Given the description of an element on the screen output the (x, y) to click on. 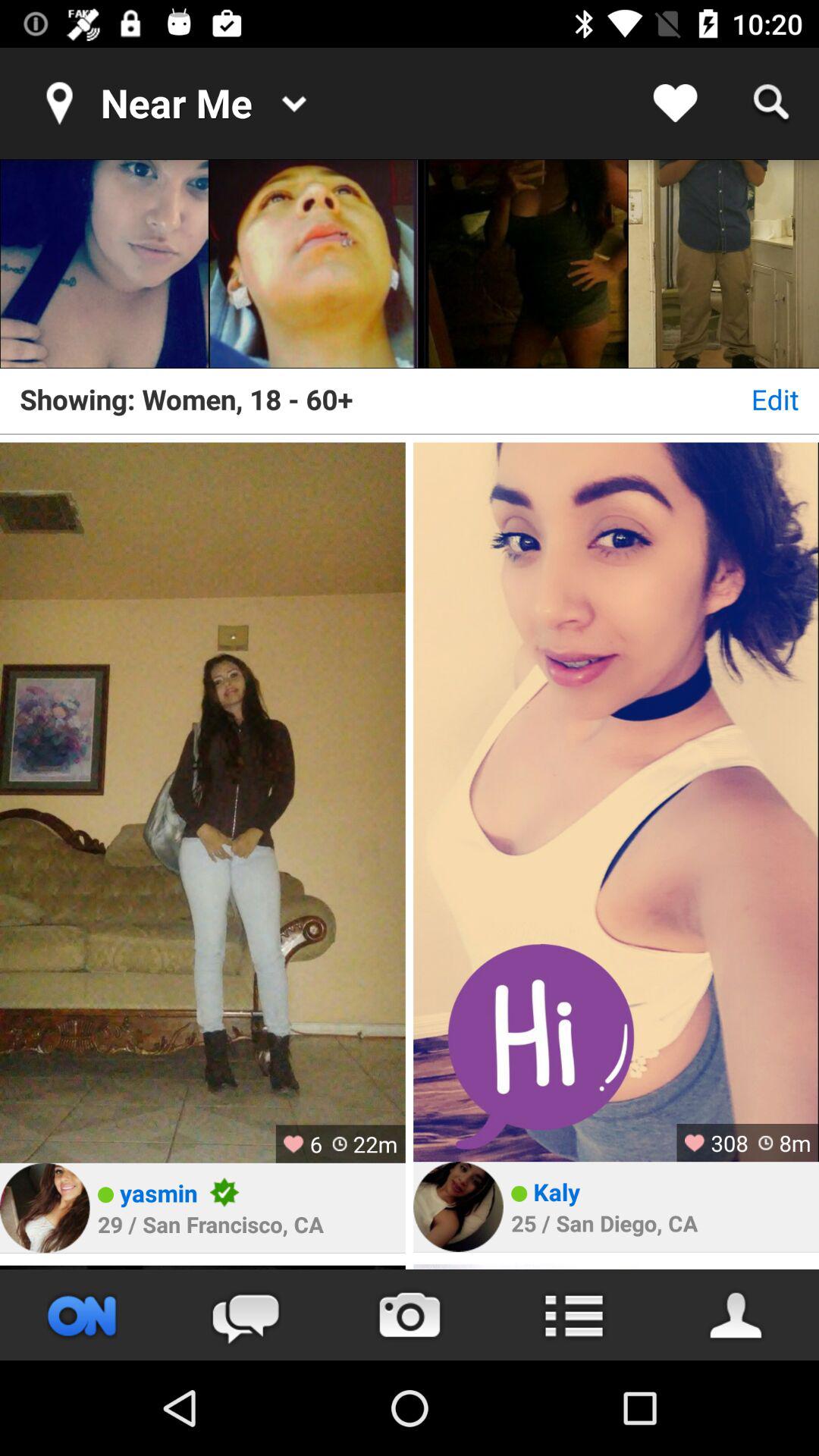
go to profile (44, 1207)
